Given the description of an element on the screen output the (x, y) to click on. 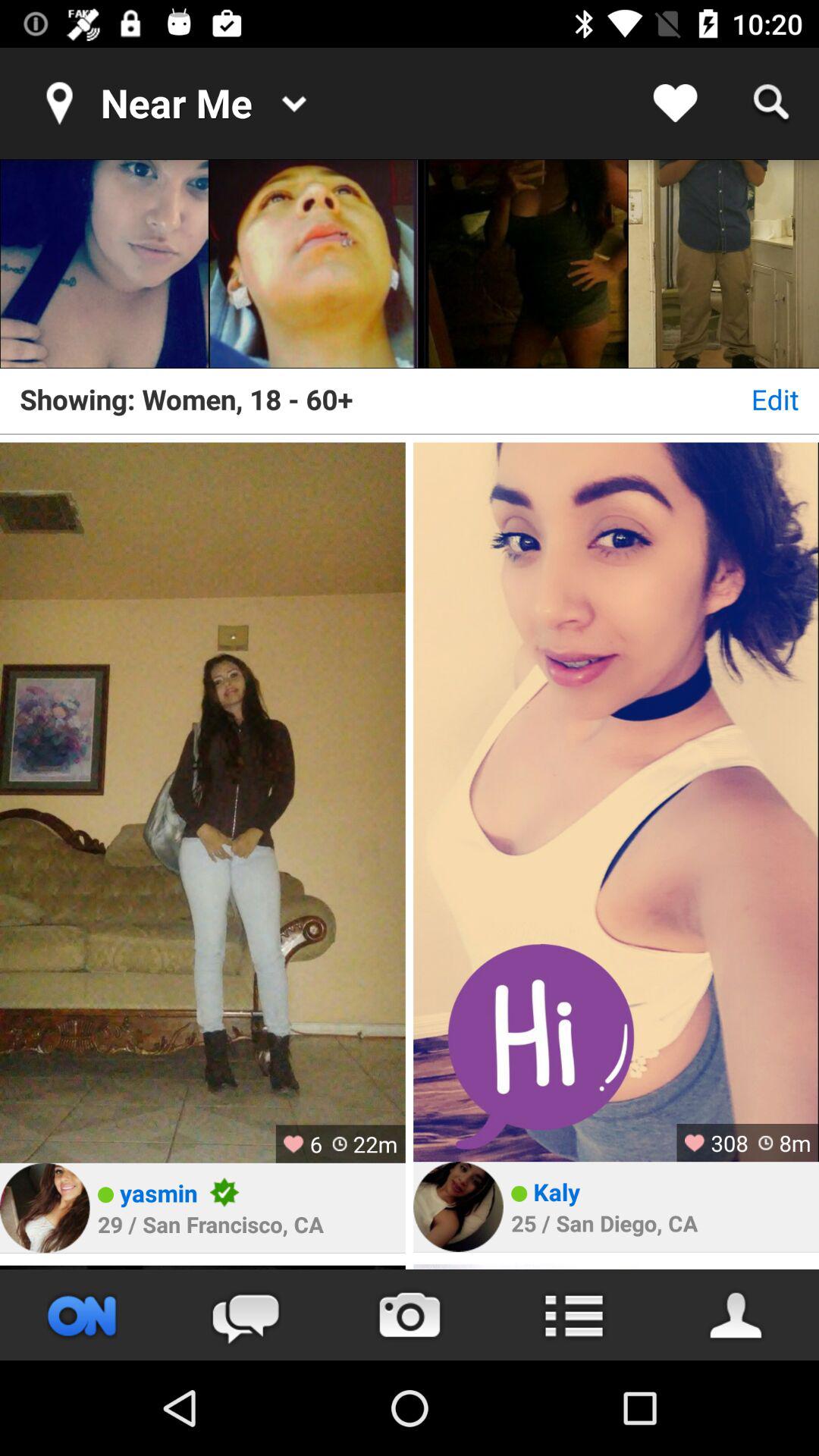
go to profile (44, 1207)
